Given the description of an element on the screen output the (x, y) to click on. 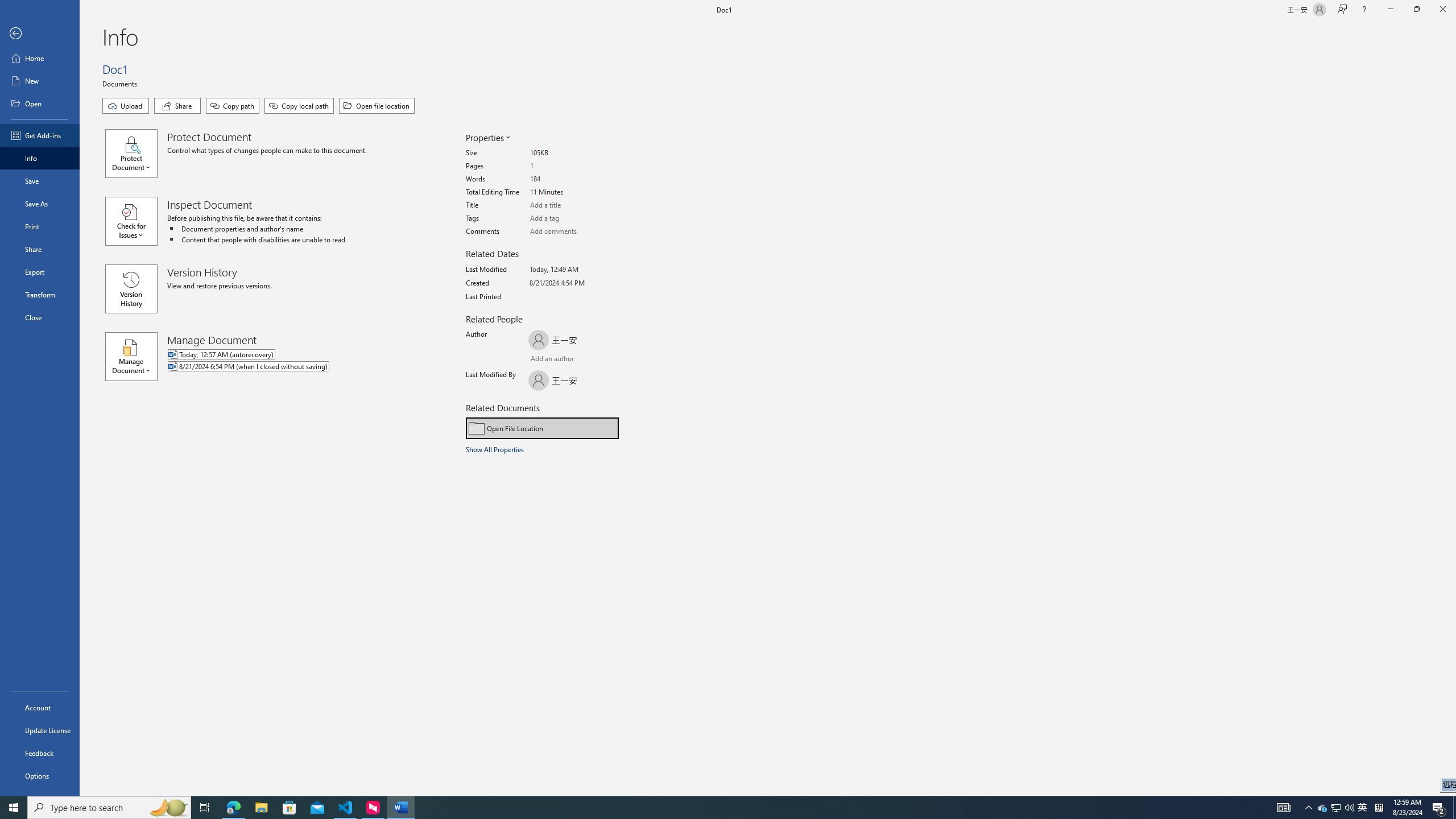
Account (40, 707)
Size (572, 153)
Protect Document (135, 153)
 Today, 12:57 AM (autorecovery) (295, 354)
Documents (120, 83)
Copy path (232, 105)
Save As (40, 203)
 8/21/2024 6:54 PM (when I closed without saving) (295, 367)
Manage Document (135, 356)
Words (572, 179)
